Given the description of an element on the screen output the (x, y) to click on. 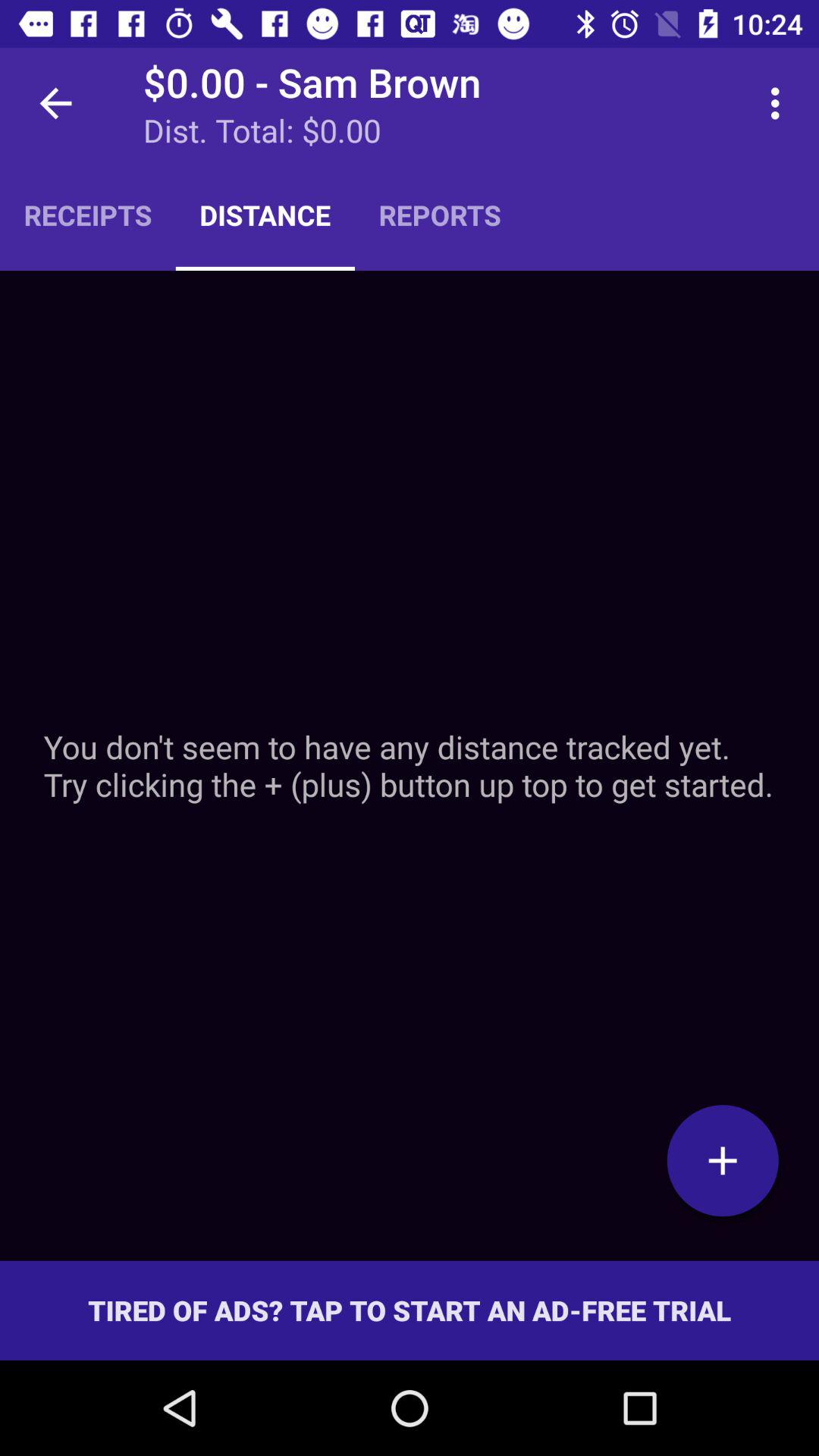
jump to the receipts (87, 214)
